Given the description of an element on the screen output the (x, y) to click on. 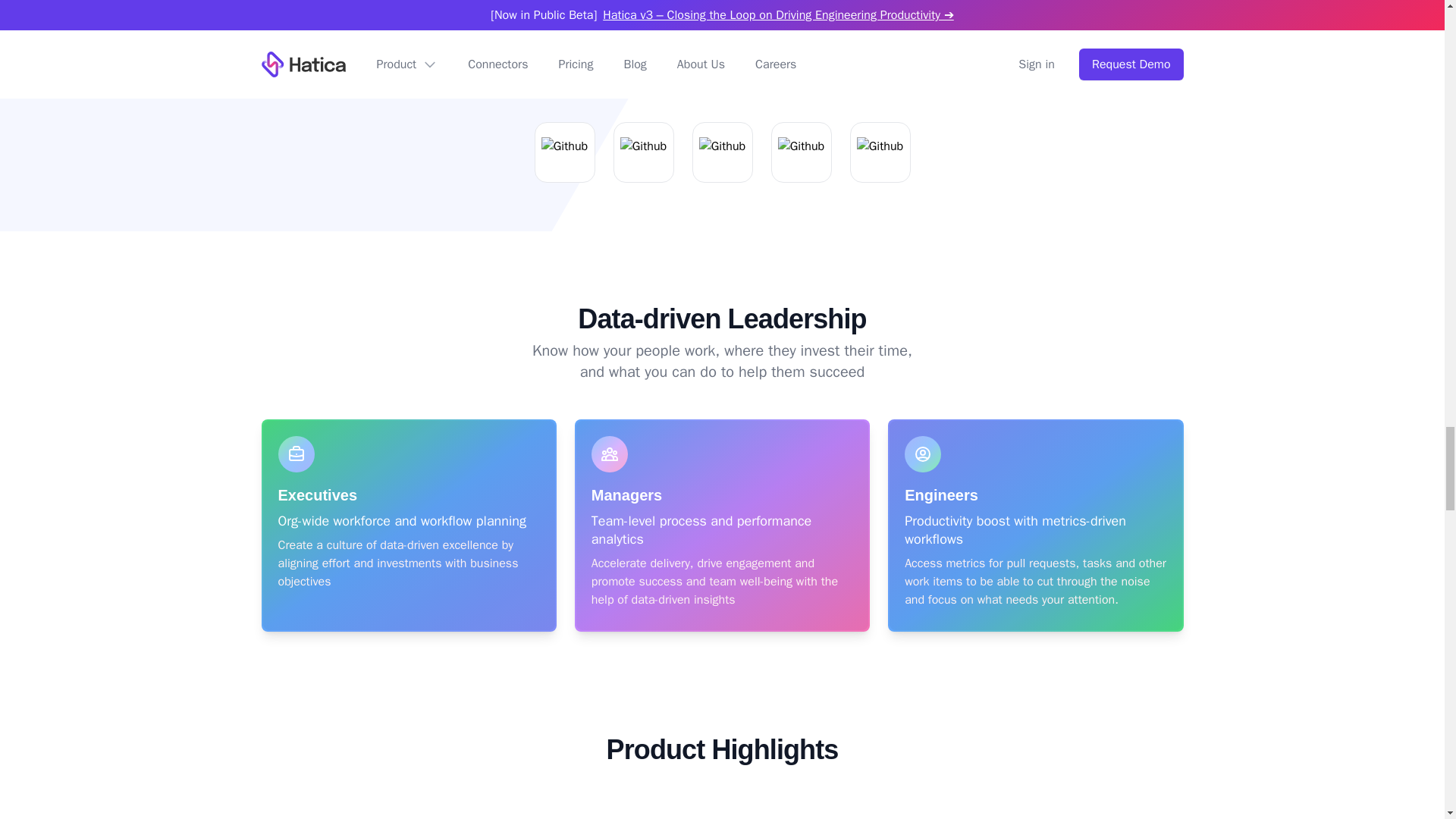
View all connectors (673, 86)
View APIs (798, 86)
